Given the description of an element on the screen output the (x, y) to click on. 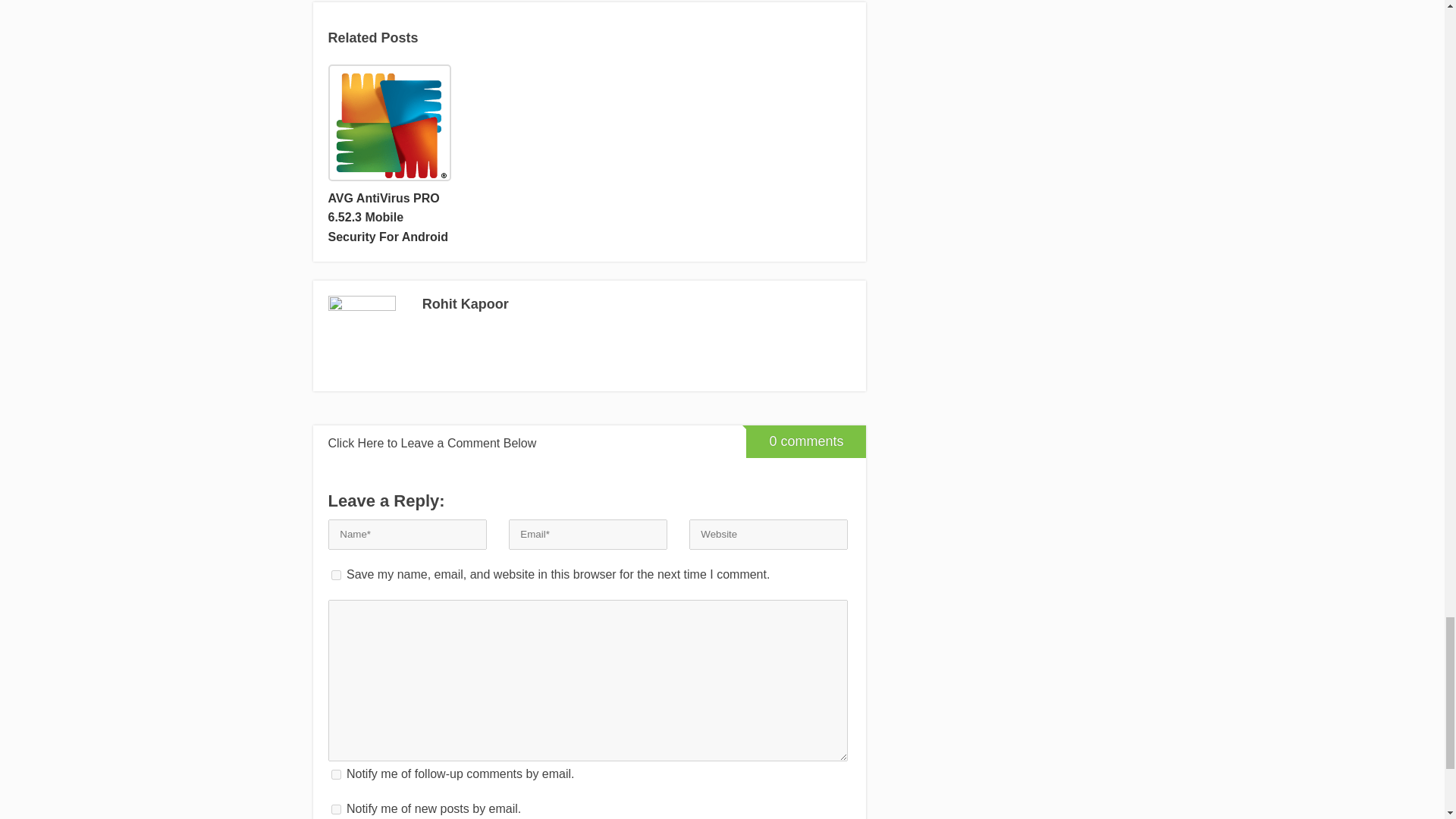
yes (335, 574)
subscribe (335, 774)
subscribe (335, 809)
